Given the description of an element on the screen output the (x, y) to click on. 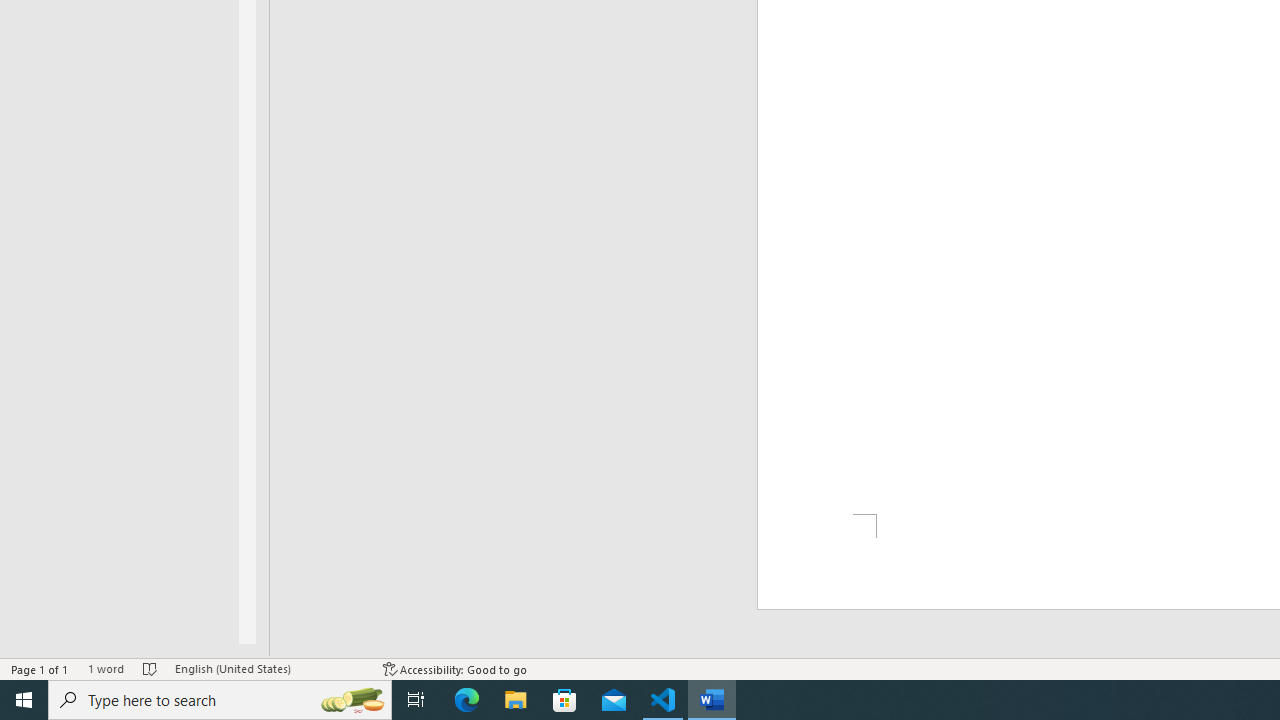
Page Number Page 1 of 1 (39, 668)
Accessibility Checker Accessibility: Good to go (455, 668)
Language English (United States) (269, 668)
Spelling and Grammar Check No Errors (150, 668)
